Given the description of an element on the screen output the (x, y) to click on. 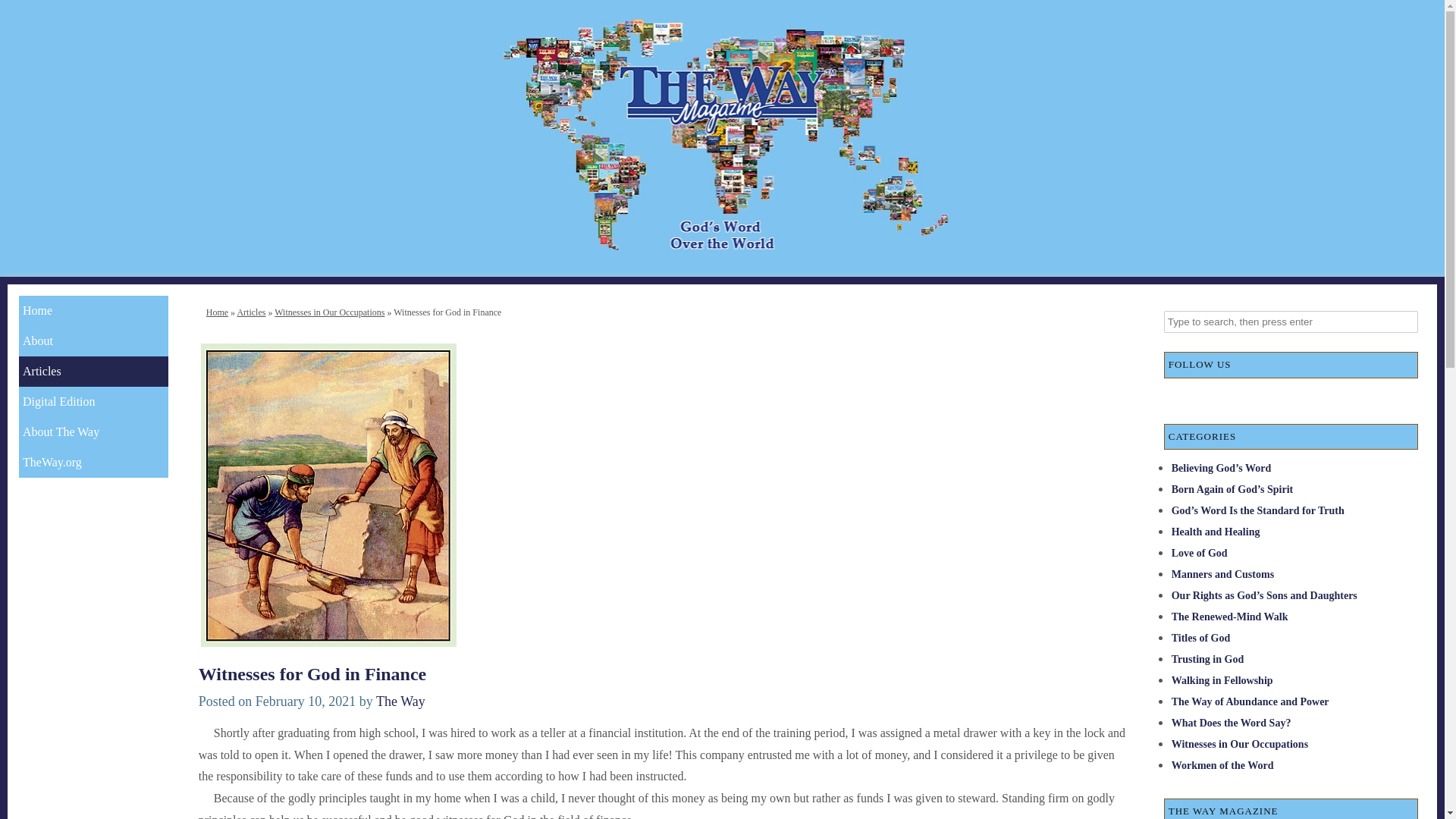
Articles (93, 371)
Witnesses in Our Occupations (329, 312)
Walking in Fellowship (1222, 680)
Titles of God (1201, 637)
Health and Healing (1216, 531)
Pinterest (1350, 396)
TheWay.org (93, 462)
Search (23, 10)
The Renewed-Mind Walk (1230, 616)
Manners and Customs (1223, 573)
